Given the description of an element on the screen output the (x, y) to click on. 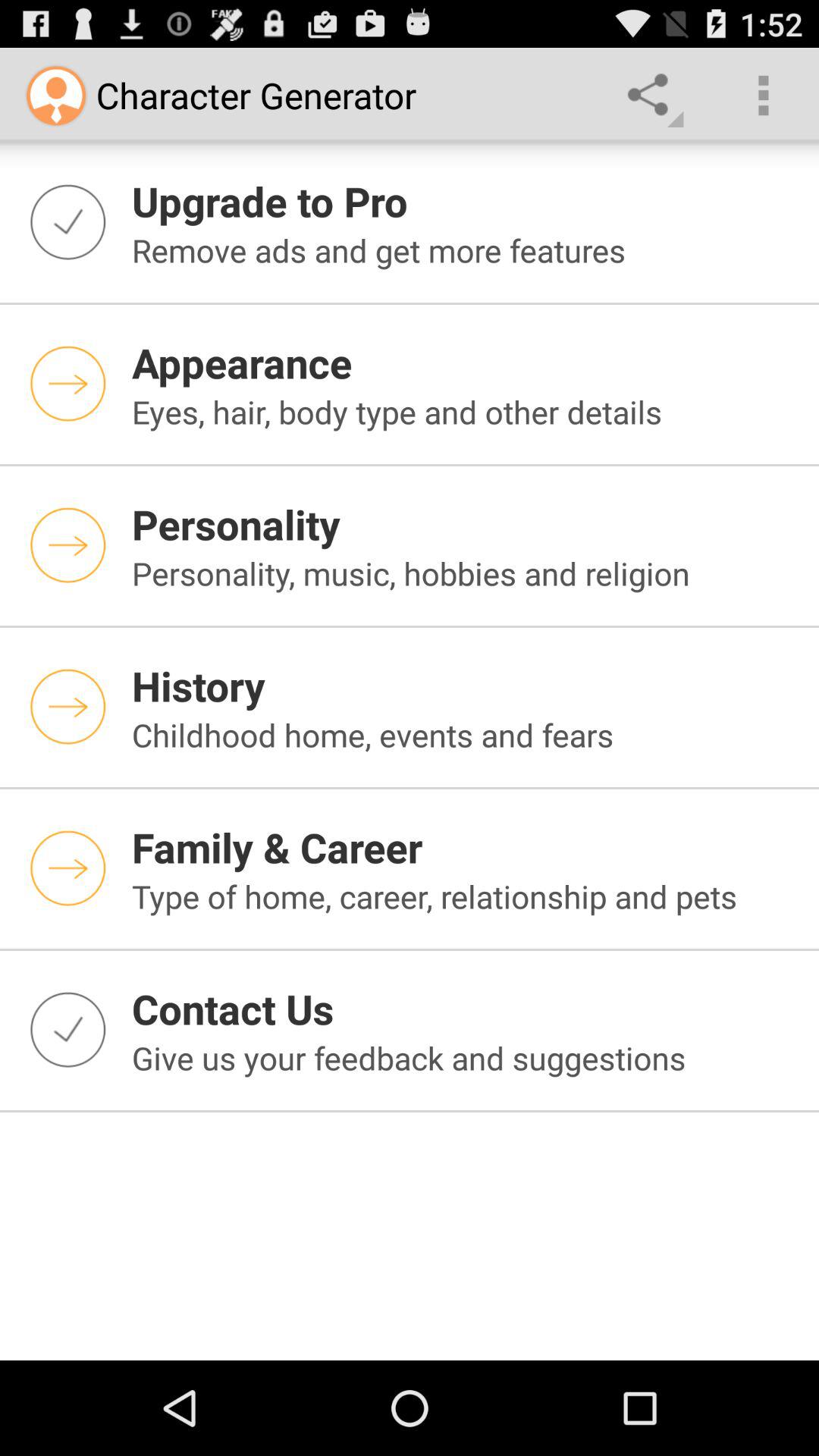
launch the type of home (465, 895)
